Given the description of an element on the screen output the (x, y) to click on. 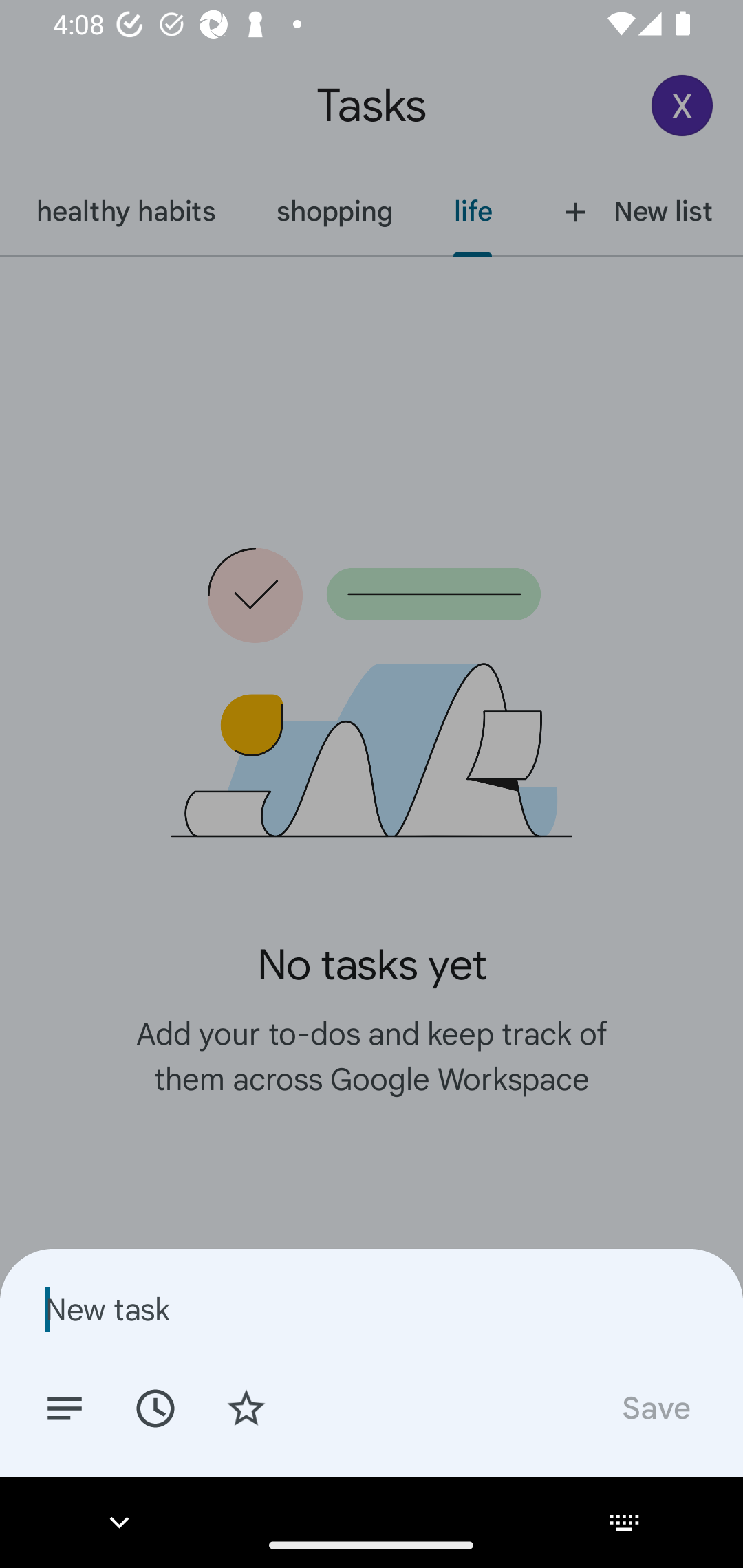
New task (371, 1308)
Save (655, 1407)
Add details (64, 1407)
Set date/time (154, 1407)
Add star (245, 1407)
